Given the description of an element on the screen output the (x, y) to click on. 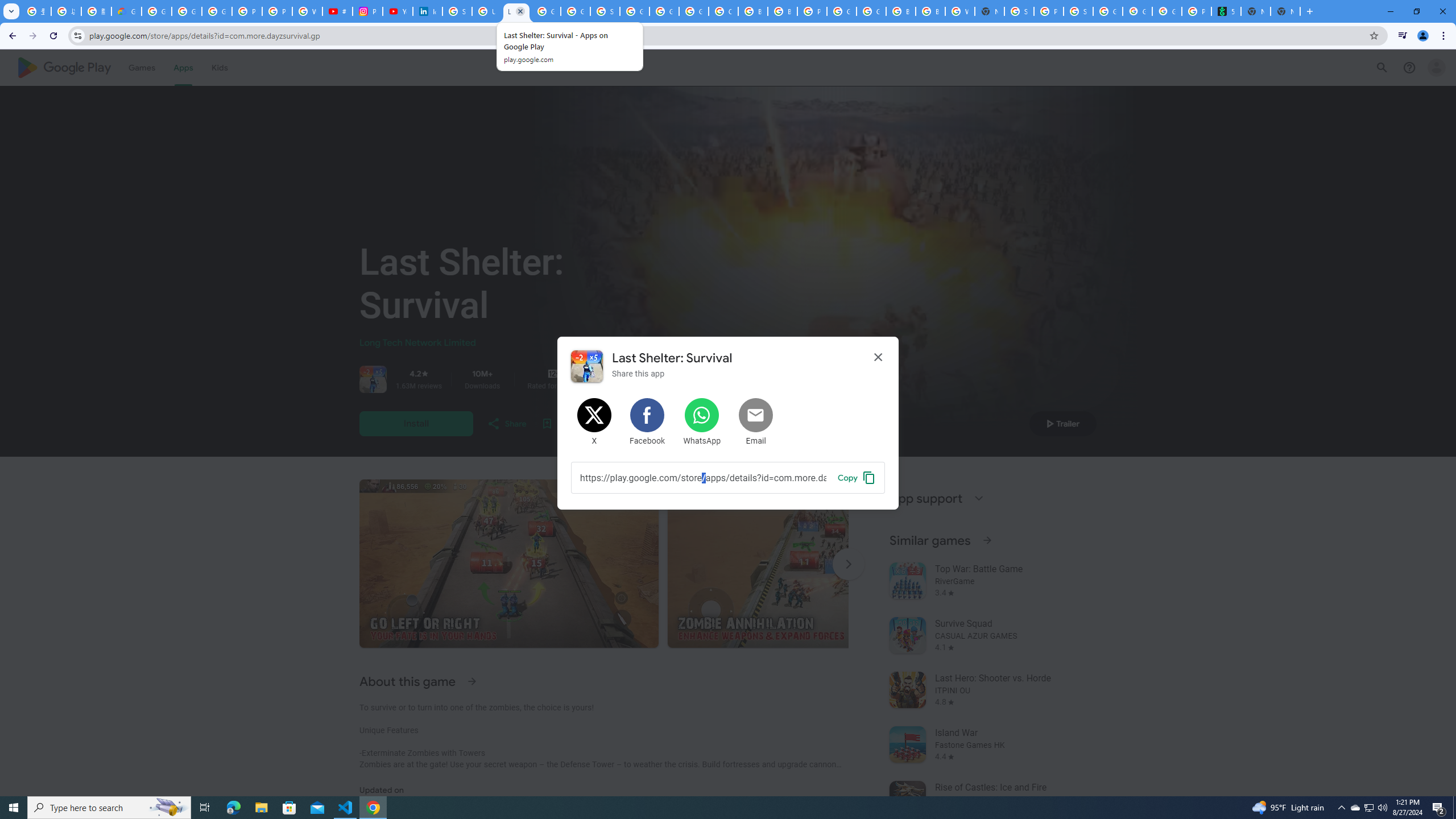
Share by Email (755, 421)
Share on X (formerly Twitter) (594, 421)
Google Workspace - Specific Terms (575, 11)
Google Cloud Platform (871, 11)
